Given the description of an element on the screen output the (x, y) to click on. 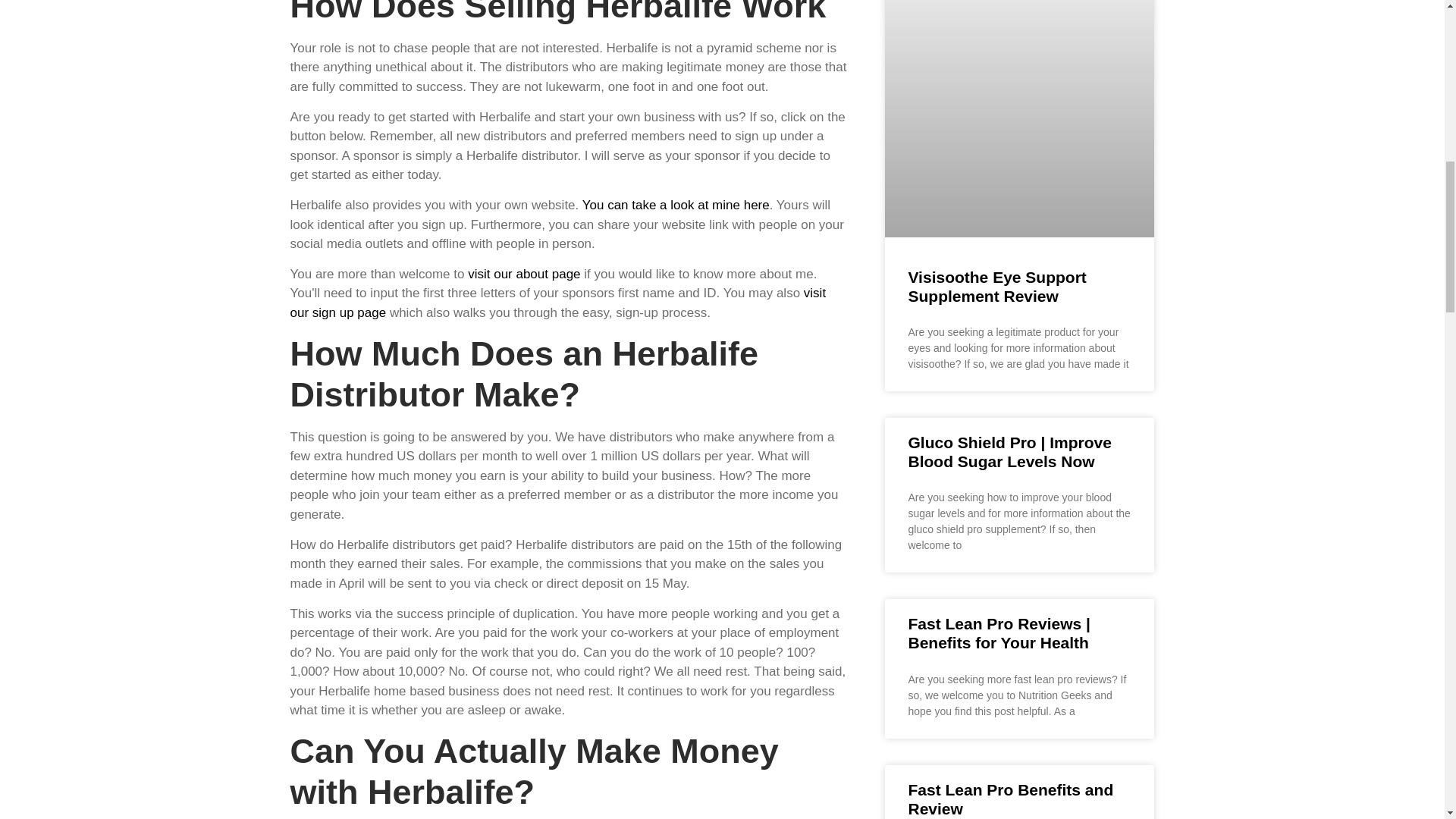
visit our sign up page (557, 302)
You can take a look at mine here (676, 205)
Visisoothe Eye Support Supplement Review (996, 286)
Fast Lean Pro Benefits and Review (1010, 799)
visit our about page (523, 273)
